Given the description of an element on the screen output the (x, y) to click on. 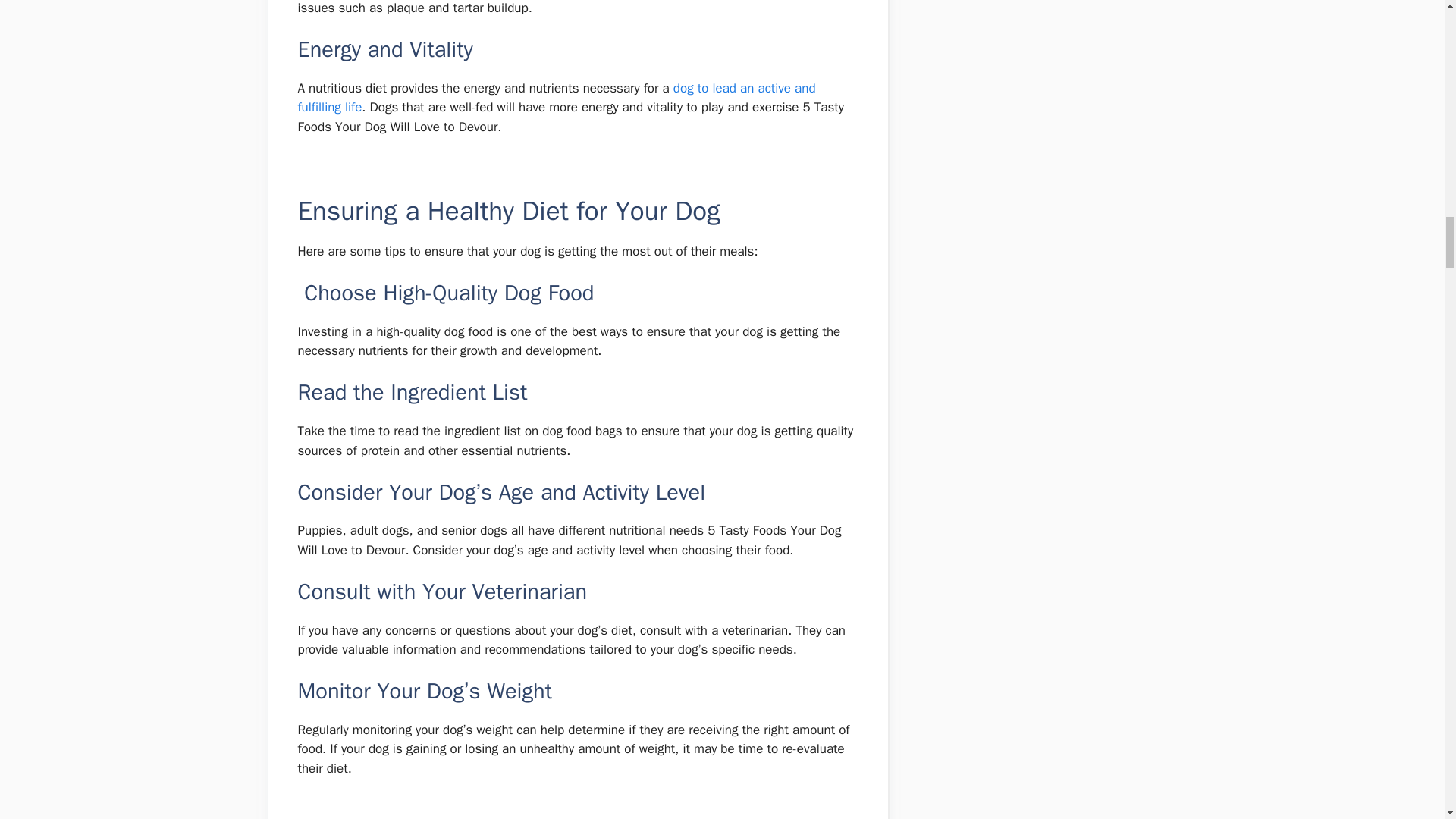
dog to lead an active and fulfilling life (556, 98)
